Given the description of an element on the screen output the (x, y) to click on. 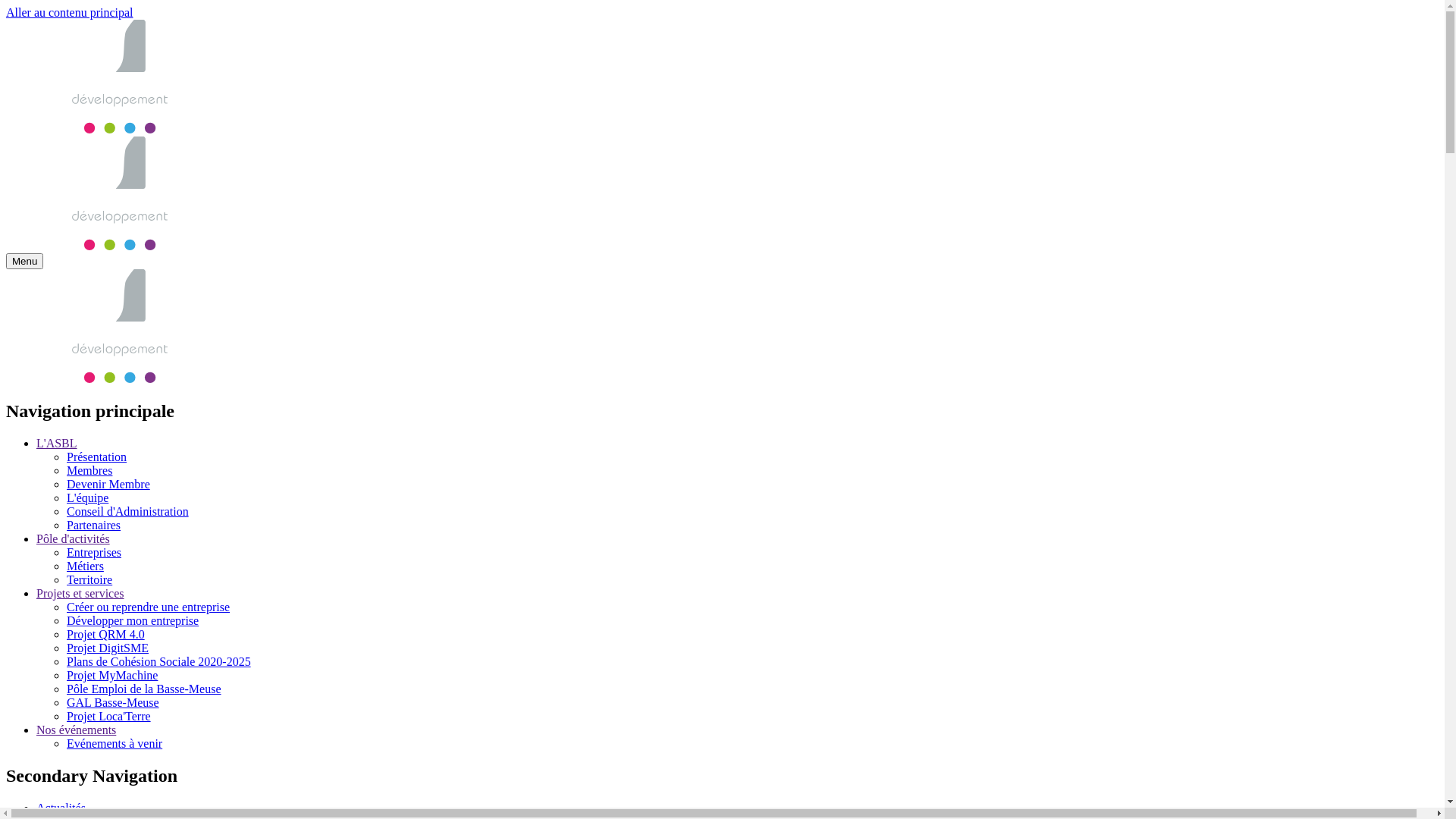
Partenaires Element type: text (93, 524)
Projets et services Element type: text (80, 592)
Membres Element type: text (89, 470)
Devenir Membre Element type: text (108, 483)
Menu Element type: text (24, 261)
GAL Basse-Meuse Element type: text (112, 702)
Projet MyMachine Element type: text (111, 674)
Projet QRM 4.0 Element type: text (105, 633)
Territoire Element type: text (89, 579)
Projet DigitSME Element type: text (107, 647)
Entreprises Element type: text (93, 552)
Aller au contenu principal Element type: text (69, 12)
L'ASBL Element type: text (56, 442)
Conseil d'Administration Element type: text (127, 511)
Projet Loca'Terre Element type: text (108, 715)
